Given the description of an element on the screen output the (x, y) to click on. 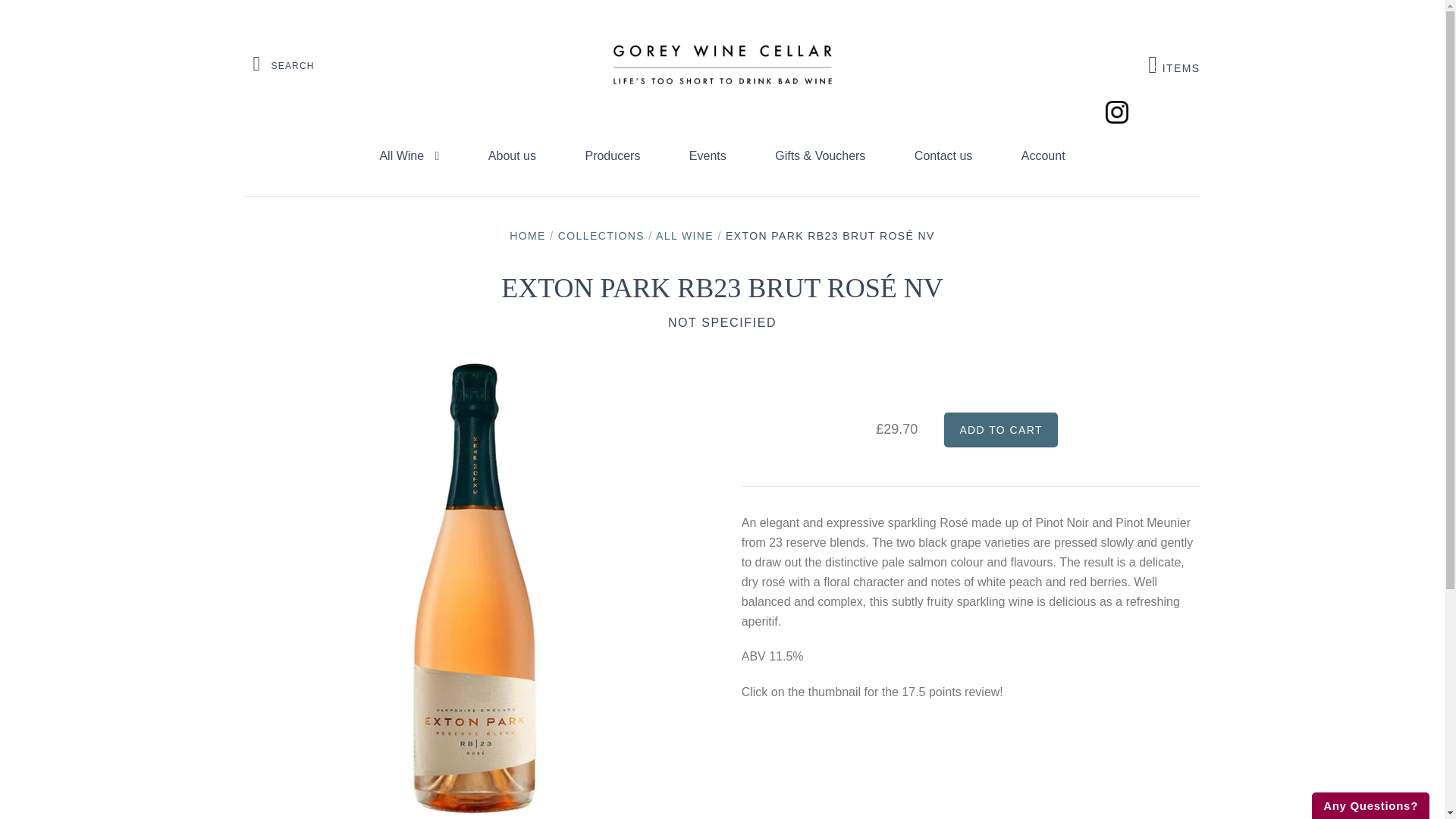
Account (1042, 156)
About us (1173, 64)
Producers (512, 156)
HOME (612, 156)
COLLECTIONS (527, 235)
Add to cart (601, 235)
All Wine (1000, 429)
Events (408, 156)
Contact us (707, 156)
NOT SPECIFIED (942, 156)
Add to cart (722, 322)
ALL WINE (1000, 429)
